Given the description of an element on the screen output the (x, y) to click on. 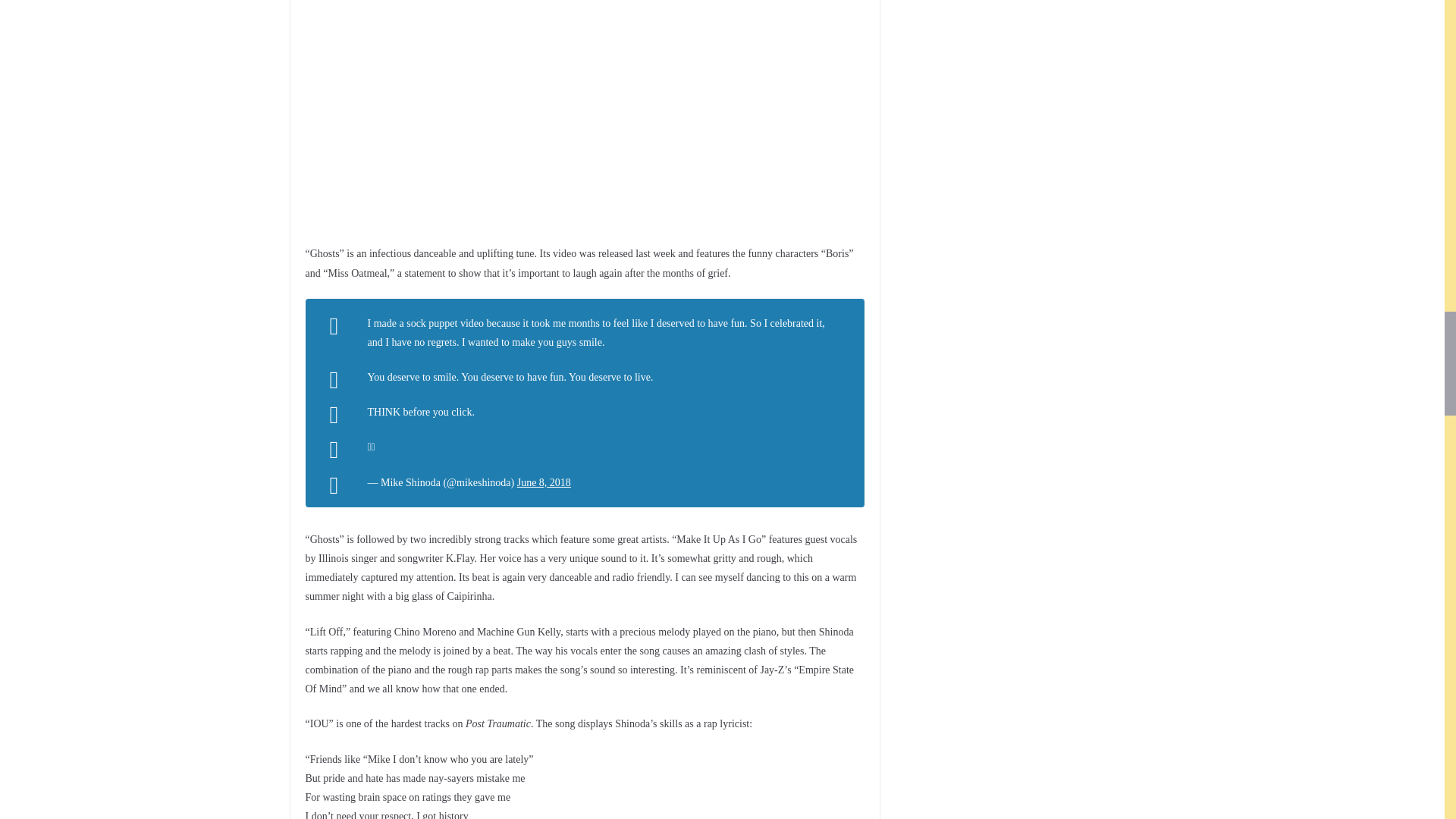
June 8, 2018 (543, 482)
